Given the description of an element on the screen output the (x, y) to click on. 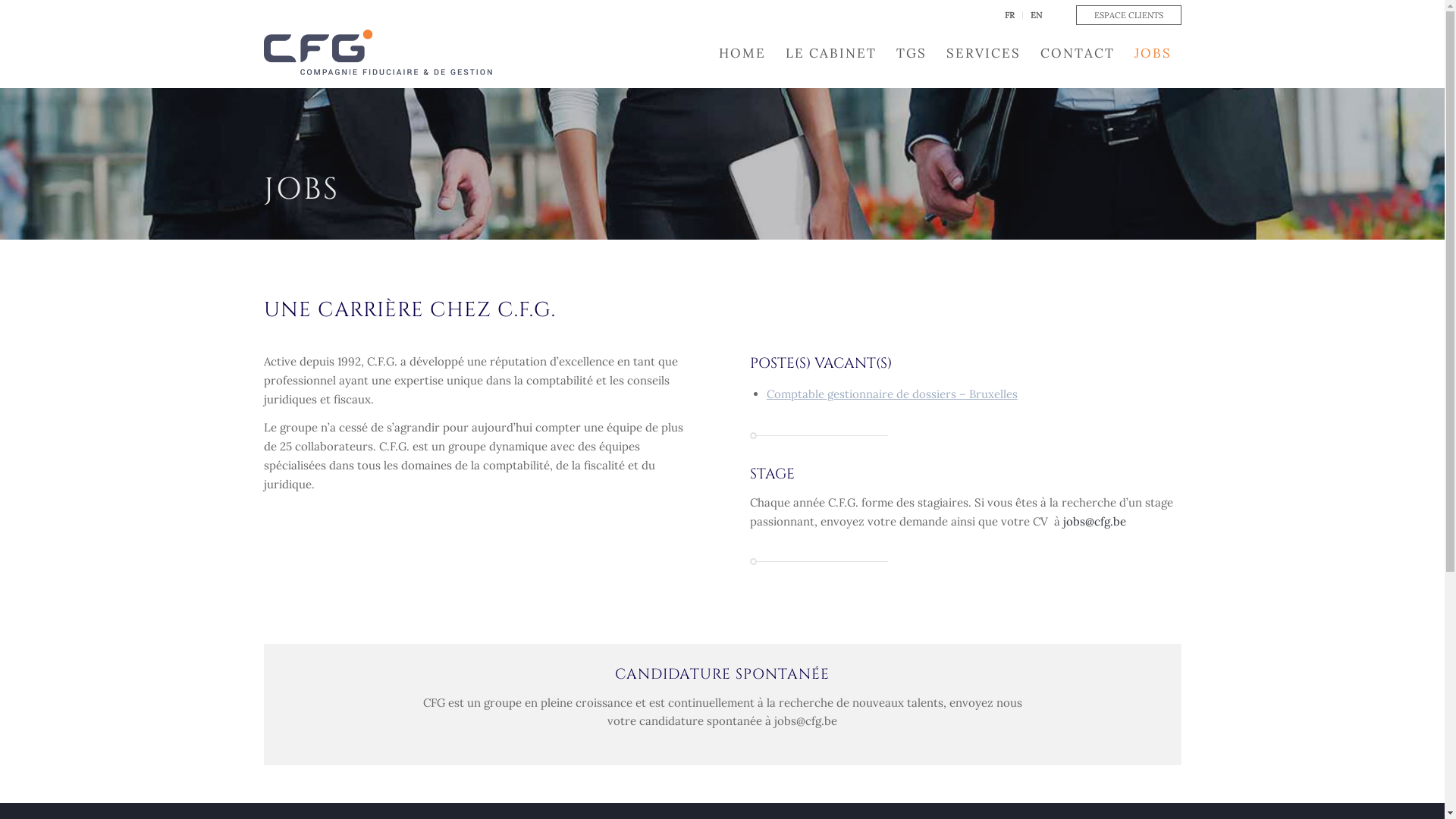
EN Element type: text (1035, 14)
SERVICES Element type: text (982, 52)
CONTACT Element type: text (1076, 52)
jobs@cfg.be Element type: text (1094, 521)
ESPACE CLIENTS Element type: text (1127, 15)
TGS Element type: text (910, 52)
JOBS Element type: text (1151, 52)
HOME Element type: text (741, 52)
FR Element type: text (1008, 14)
LE CABINET Element type: text (830, 52)
